Given the description of an element on the screen output the (x, y) to click on. 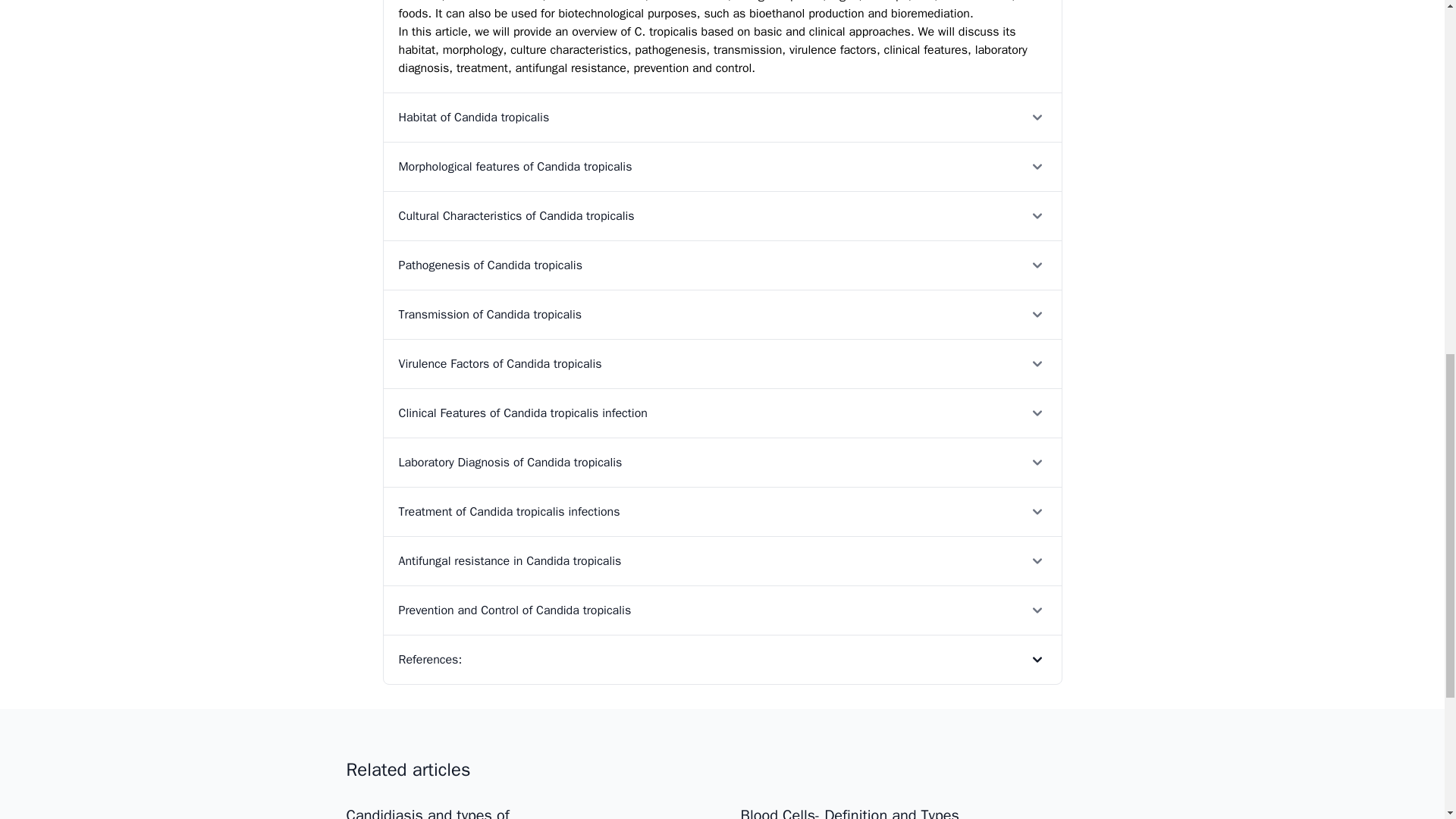
Laboratory Diagnosis of Candida tropicalis (722, 461)
Clinical Features of Candida tropicalis infection (722, 412)
Virulence Factors of Candida tropicalis (722, 363)
Candidiasis and types of Candidiasis (427, 812)
Treatment of Candida tropicalis infections (722, 511)
Transmission of Candida tropicalis (722, 314)
Habitat of Candida tropicalis (722, 116)
References: (722, 658)
Cultural Characteristics of Candida tropicalis (722, 215)
Pathogenesis of Candida tropicalis (722, 264)
Antifungal resistance in Candida tropicalis (722, 560)
Prevention and Control of Candida tropicalis (722, 609)
Morphological features of Candida tropicalis (722, 165)
